Given the description of an element on the screen output the (x, y) to click on. 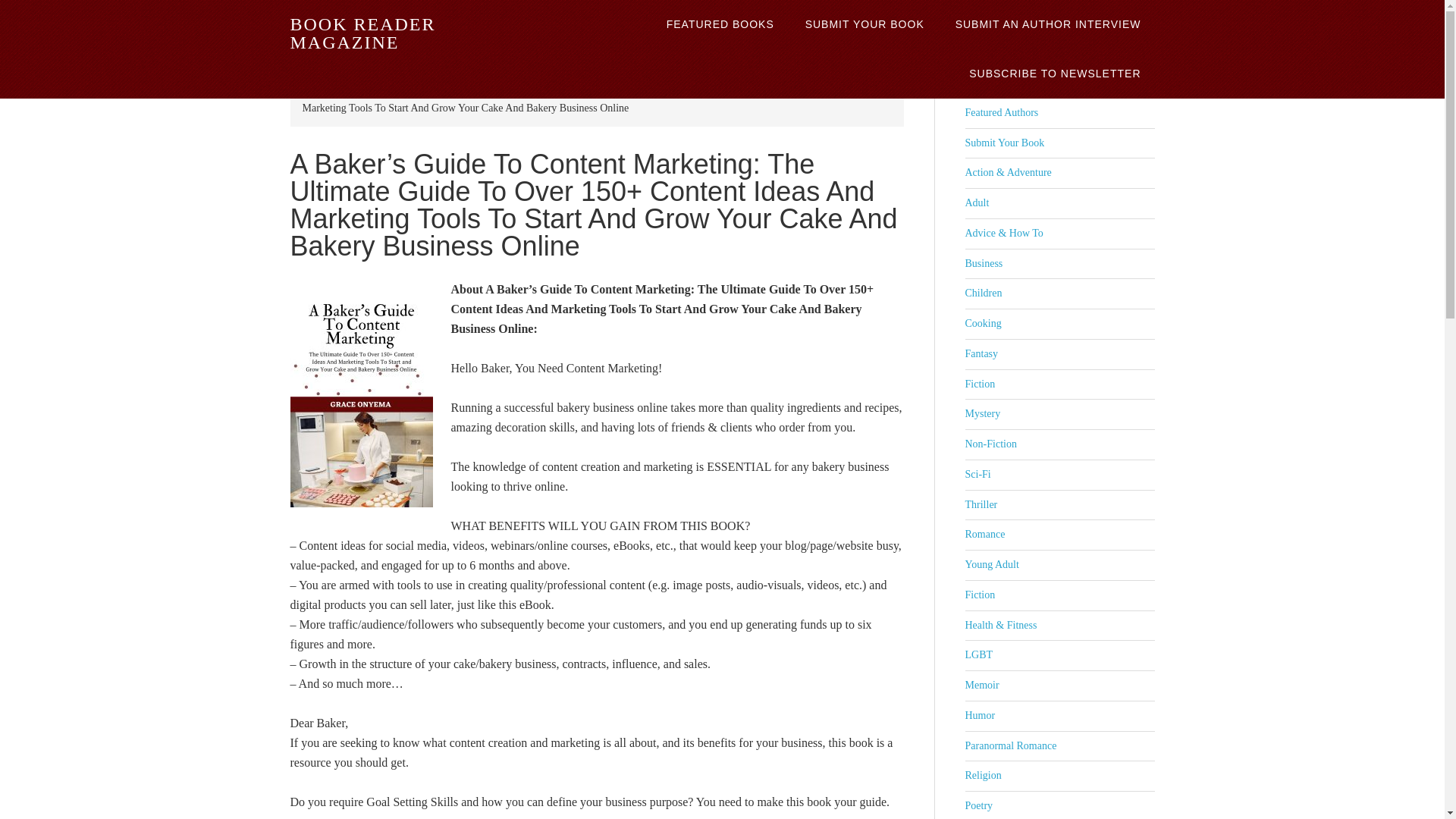
Fiction (978, 383)
Mystery (981, 413)
Featured Authors (1000, 112)
Romance (983, 533)
Featured Authors (1000, 112)
Business (983, 263)
SUBSCRIBE TO NEWSLETTER (1054, 73)
Books To Read (428, 90)
Thriller (980, 504)
Young Adult (990, 564)
